Given the description of an element on the screen output the (x, y) to click on. 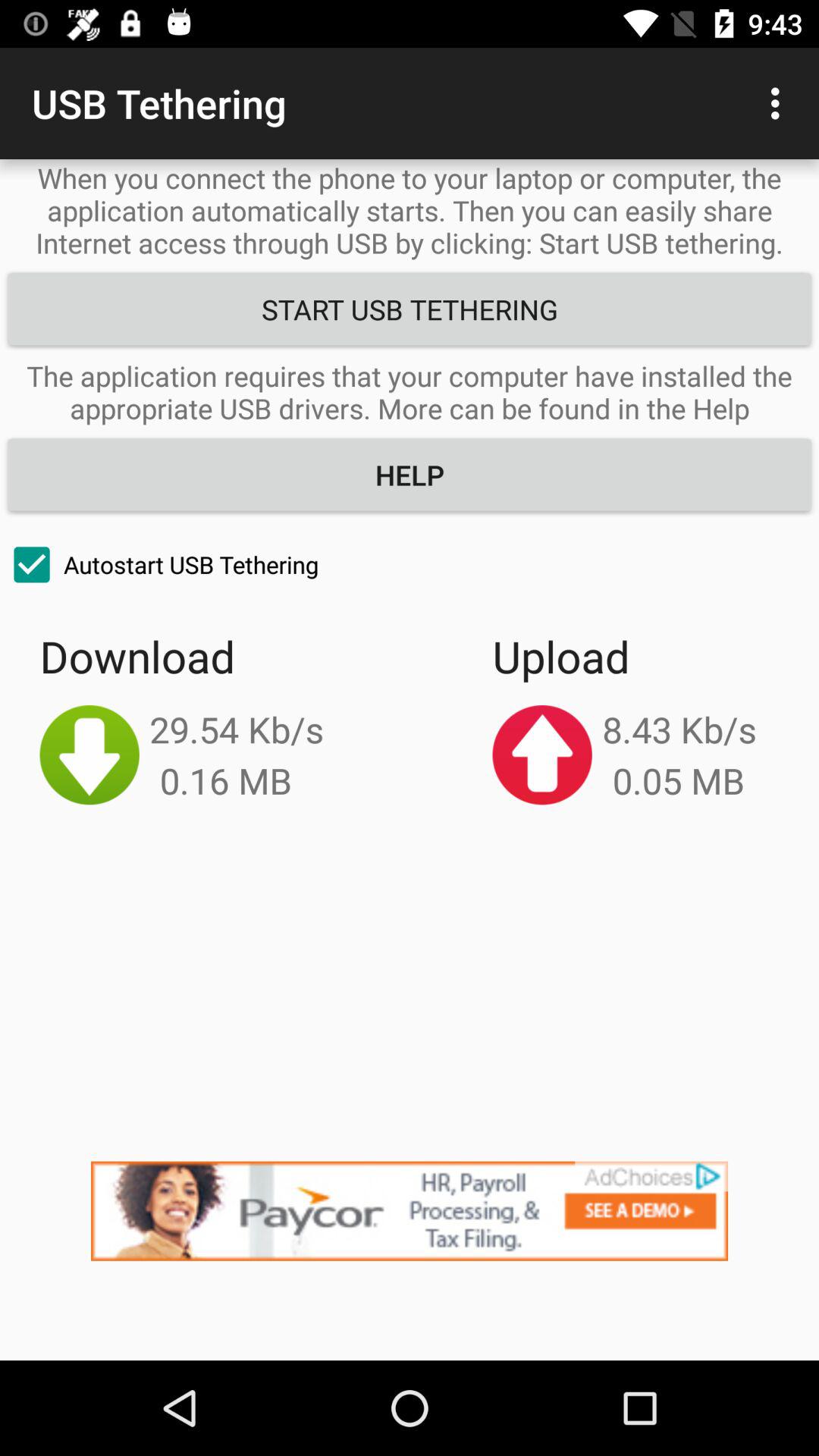
go to the advertised site (409, 1260)
